Given the description of an element on the screen output the (x, y) to click on. 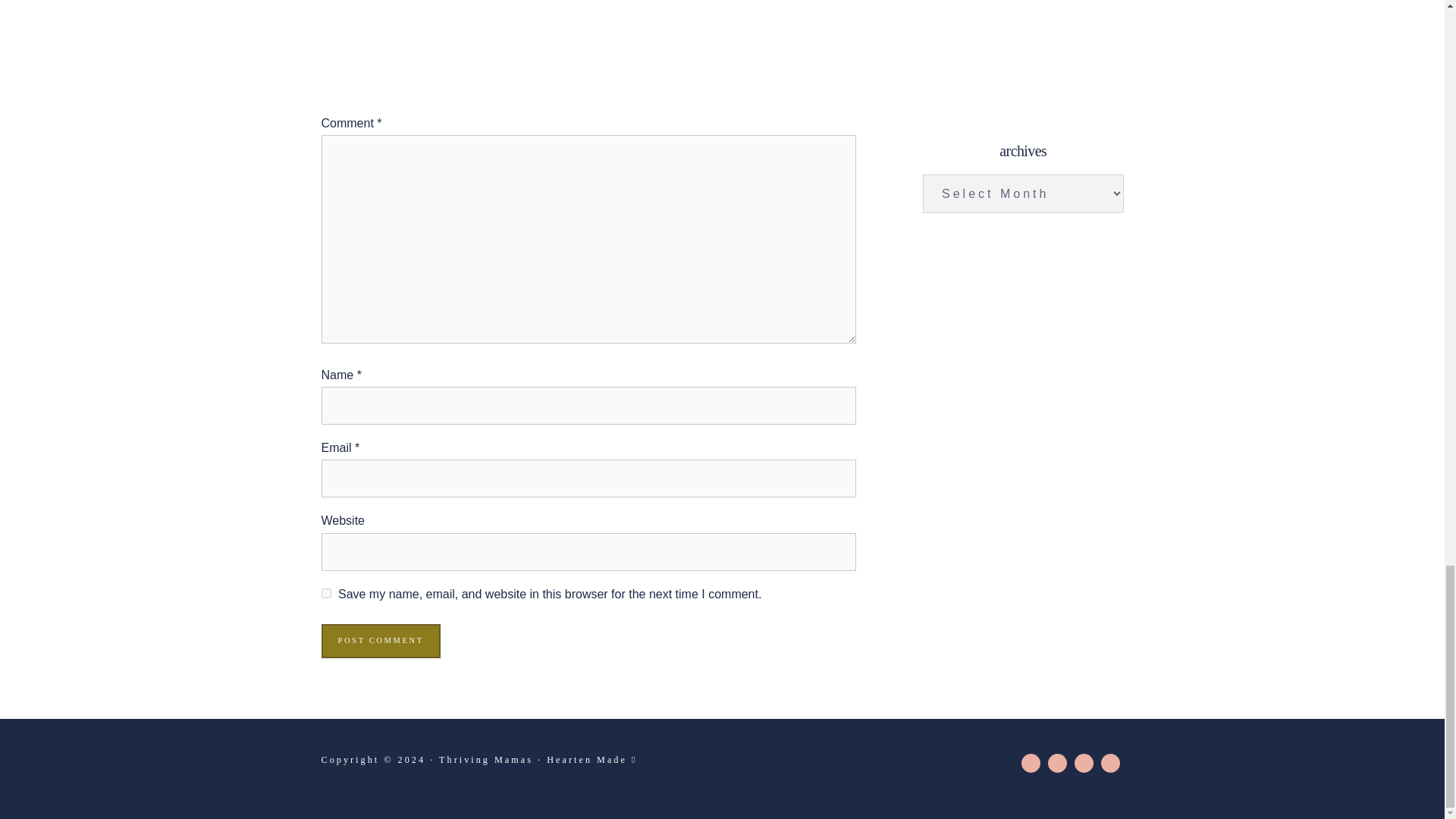
Post Comment (381, 641)
yes (326, 593)
Post Comment (381, 641)
